Given the description of an element on the screen output the (x, y) to click on. 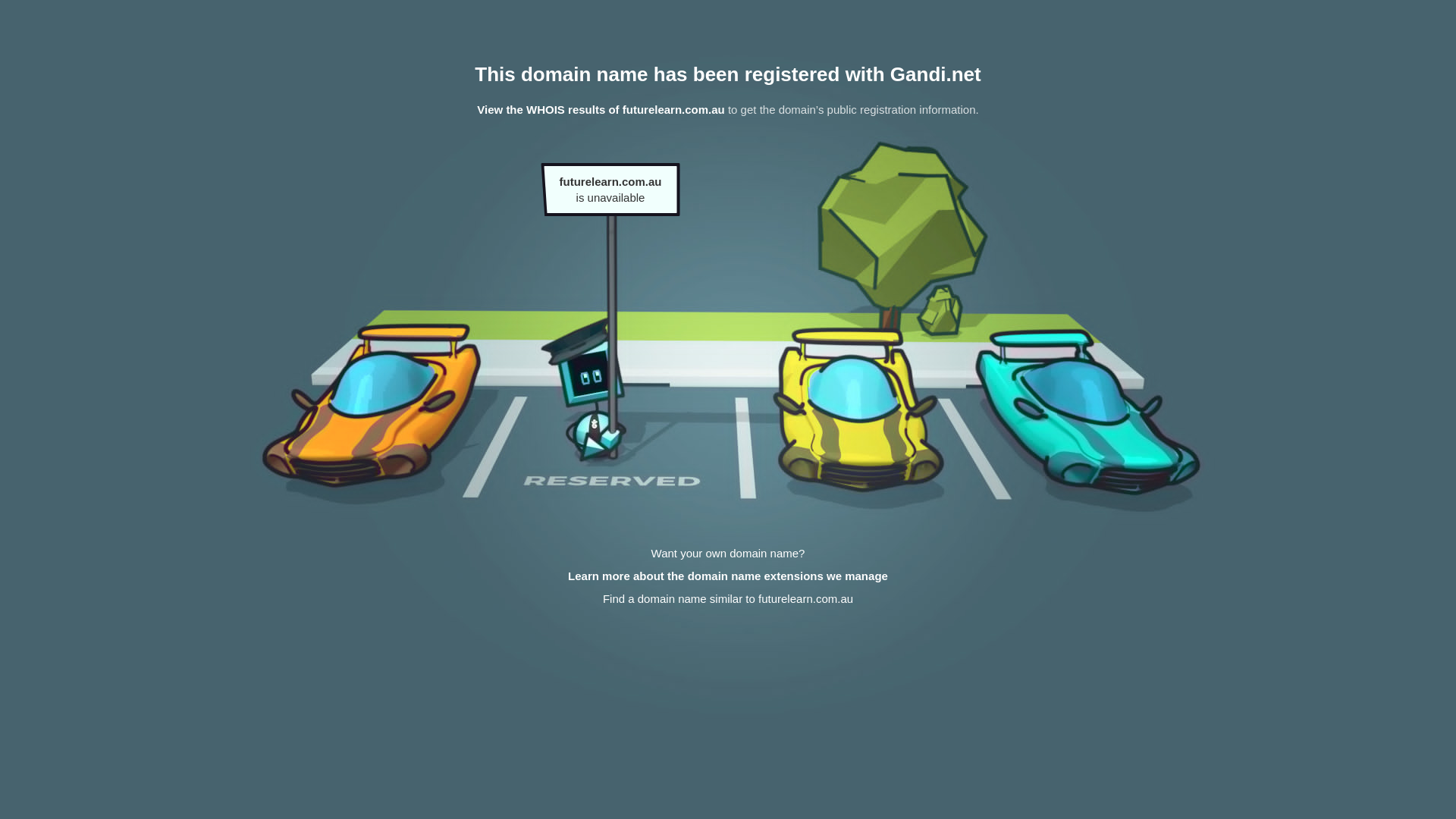
View the WHOIS results of futurelearn.com.au Element type: text (600, 109)
Learn more about the domain name extensions we manage Element type: text (727, 575)
Find a domain name similar to futurelearn.com.au Element type: text (727, 598)
